Given the description of an element on the screen output the (x, y) to click on. 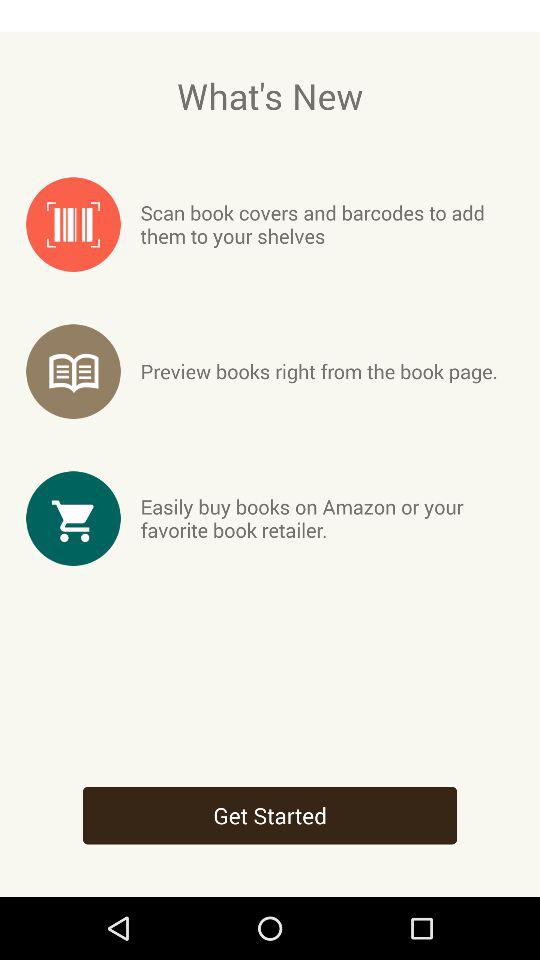
launch icon below the scan book covers (318, 371)
